Given the description of an element on the screen output the (x, y) to click on. 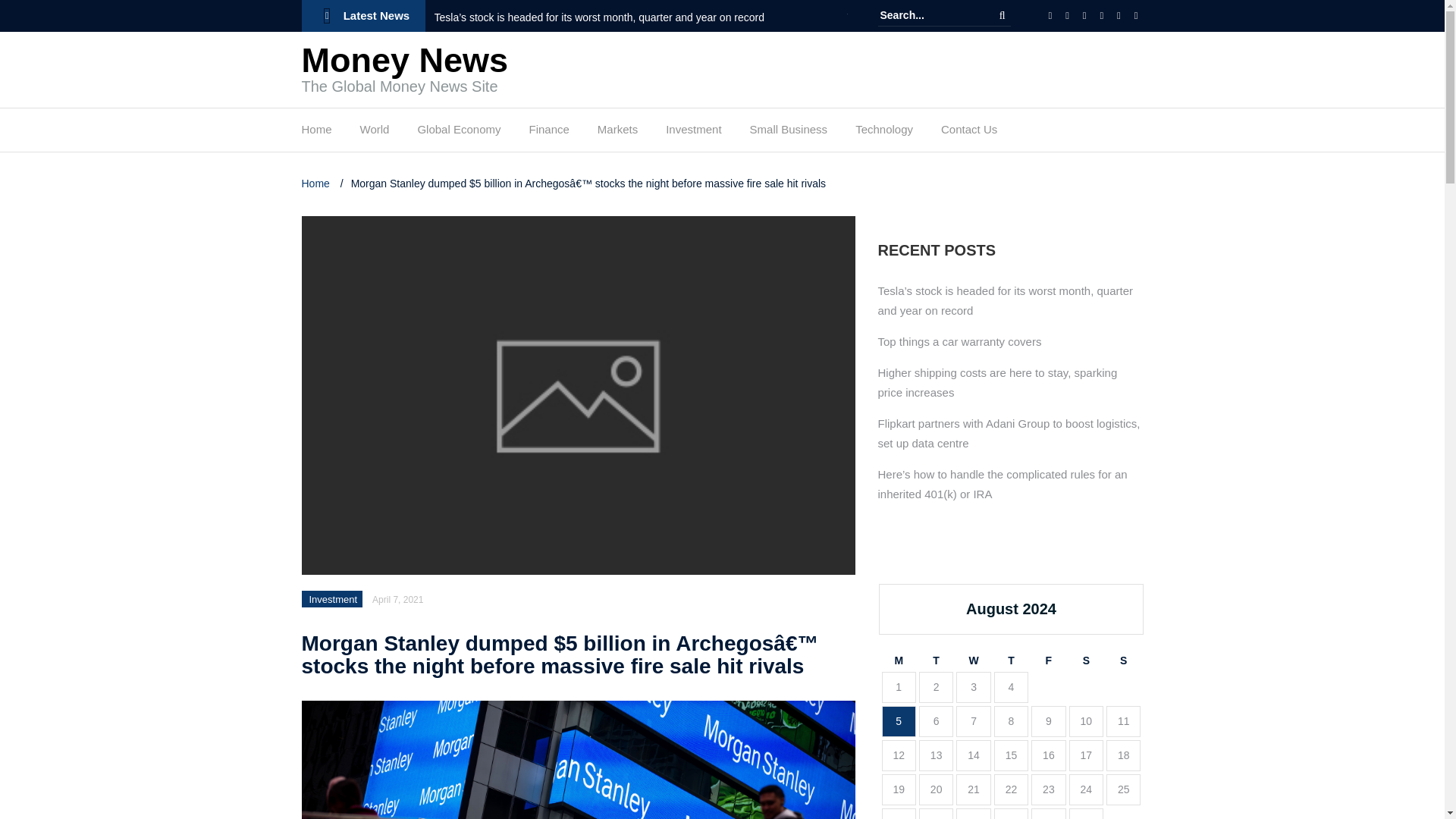
Saturday (1085, 660)
Sunday (1123, 660)
Home (316, 133)
Wednesday (973, 660)
Money News (404, 59)
Small Business (788, 133)
Technology (884, 133)
Investment (692, 133)
Markets (616, 133)
World (374, 133)
